Given the description of an element on the screen output the (x, y) to click on. 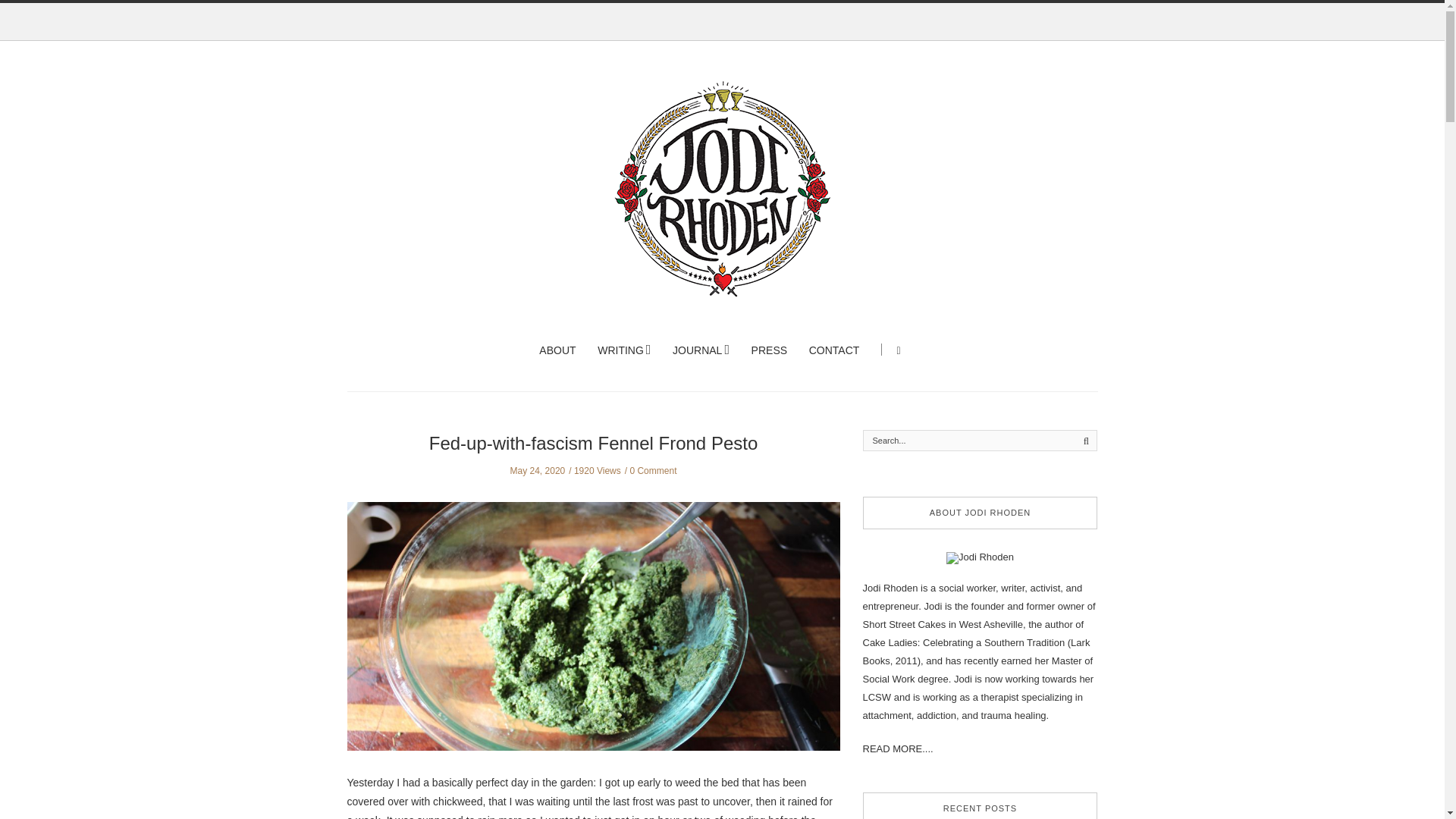
ABOUT (556, 349)
Fed-up-with-fascism Fennel Frond Pesto (593, 443)
Fed-up-with-fascism Fennel Frond Pesto (593, 636)
CONTACT (834, 349)
WRITING (623, 349)
0 Comment (652, 470)
JOURNAL (700, 349)
PRESS (769, 349)
